Given the description of an element on the screen output the (x, y) to click on. 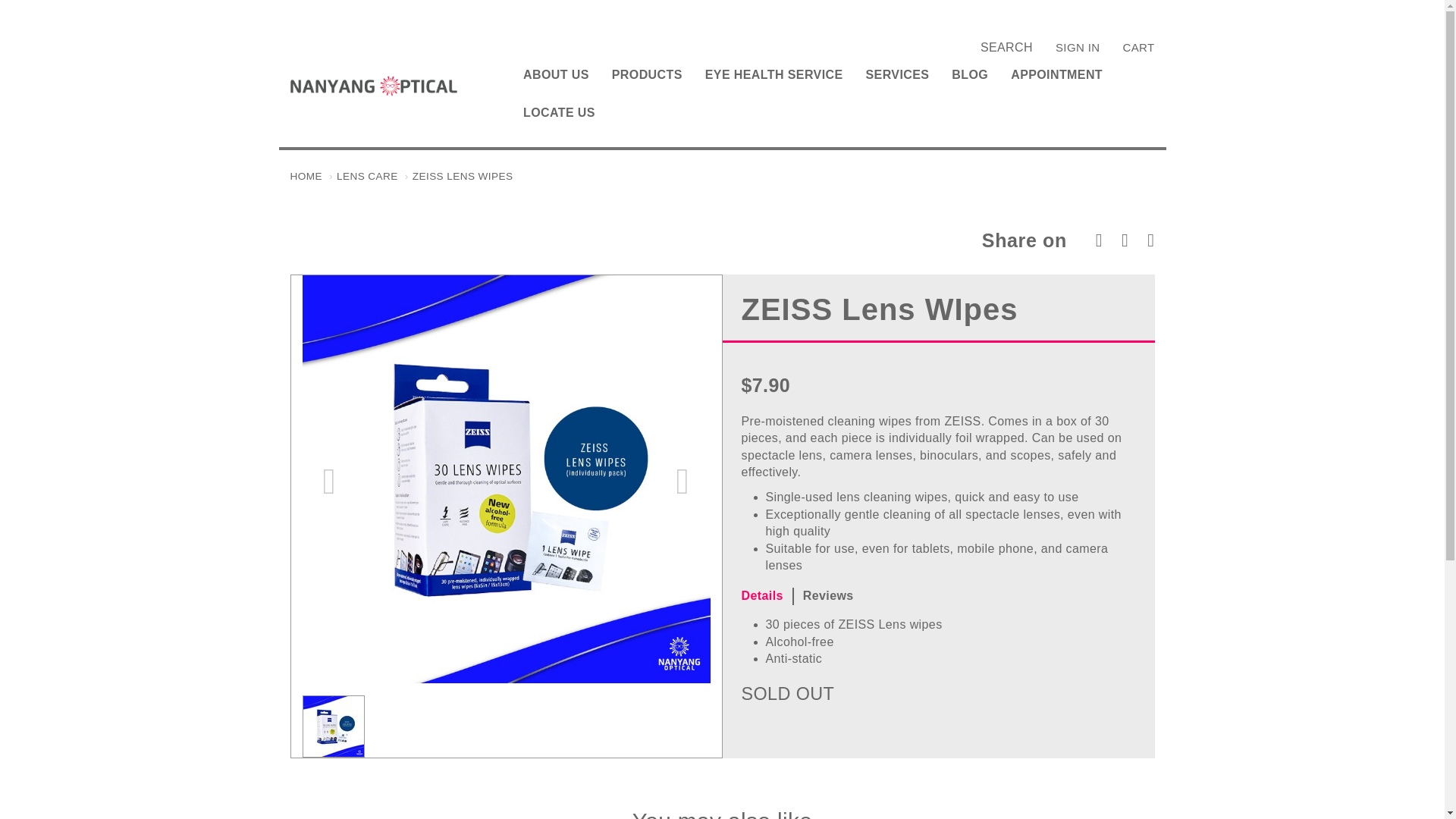
SERVICES (898, 75)
LOCATE US (558, 112)
SEARCH (1005, 47)
find out where we are located (558, 112)
Details (767, 596)
HOME (305, 175)
CART (1132, 47)
SIGN IN (1082, 47)
BLOG (970, 75)
PRODUCTS (646, 75)
